Given the description of an element on the screen output the (x, y) to click on. 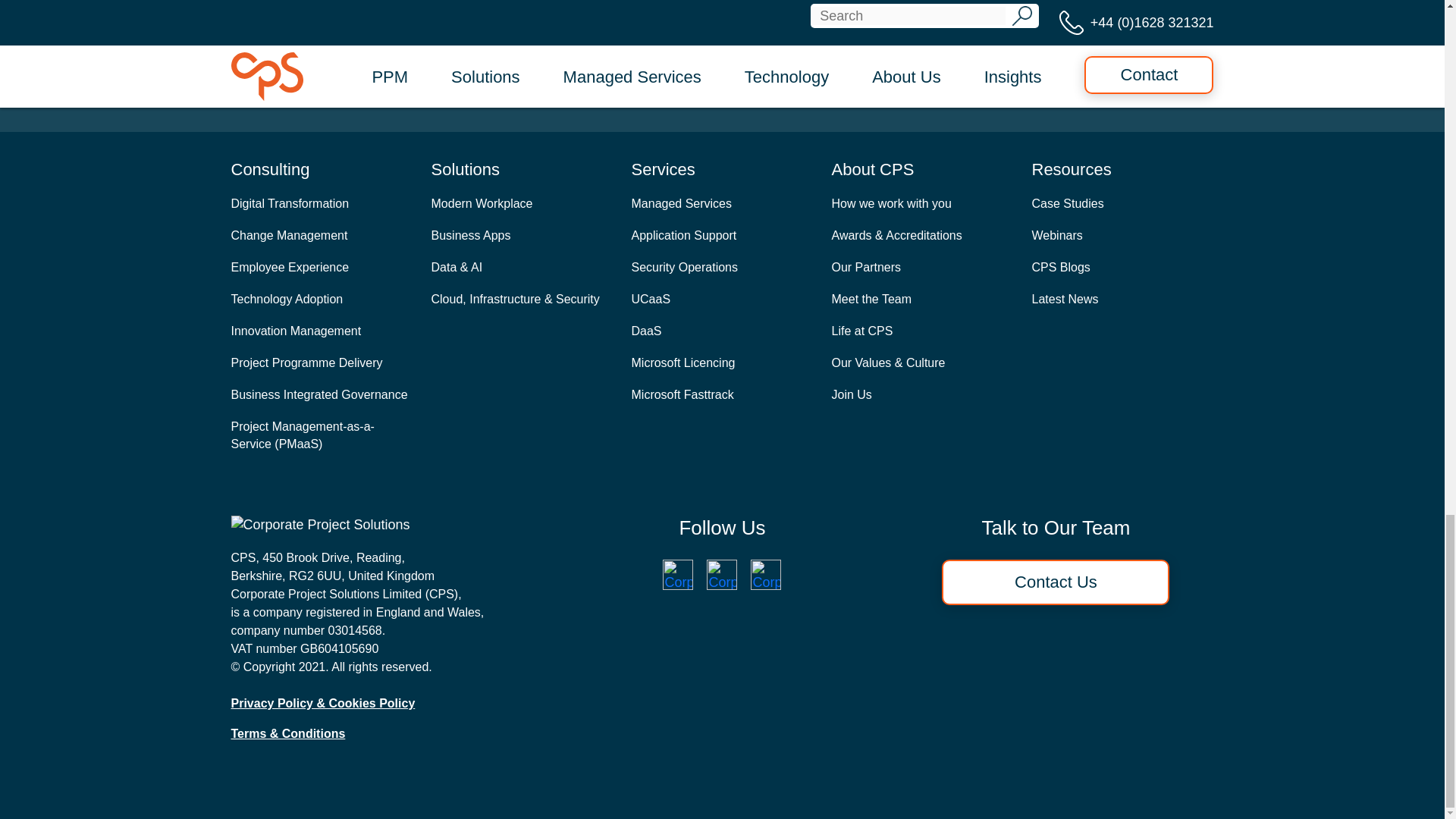
Innovation Management (295, 330)
Modern Workplace (481, 203)
Business Integrated Governance (318, 394)
Managed Services (681, 203)
Change Management (288, 235)
Security Operations (684, 267)
Digital Transformation (289, 203)
Employee Experience (289, 267)
Contact Us (721, 67)
Application Support (683, 235)
